Given the description of an element on the screen output the (x, y) to click on. 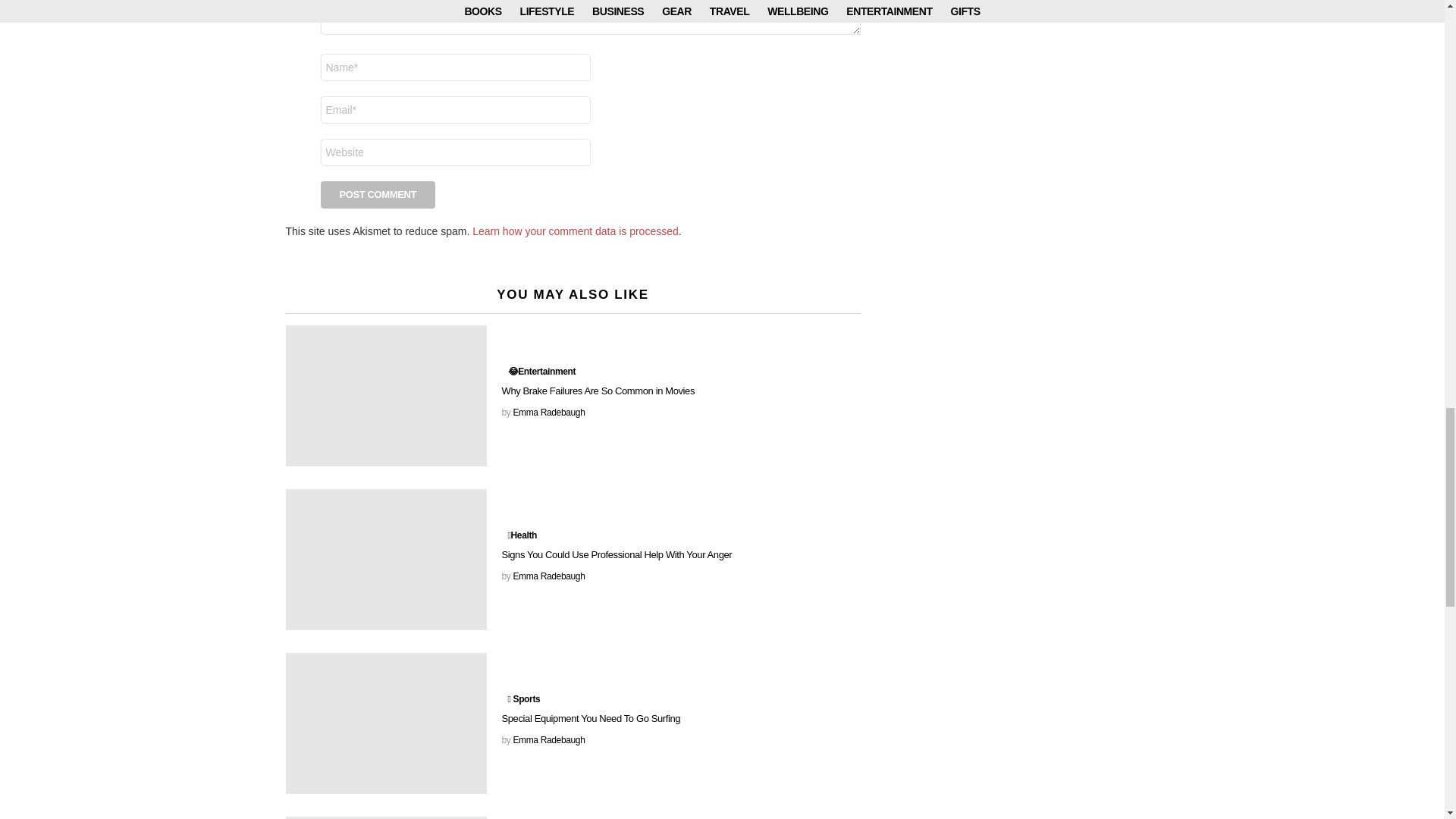
Why Brake Failures Are So Common in Movies (385, 395)
Post Comment (377, 194)
Special Equipment You Need To Go Surfing (385, 722)
Posts by Emma Radebaugh (548, 412)
Posts by Emma Radebaugh (548, 739)
4 Tips for Handling a K-1 Visa Interview (385, 817)
Signs You Could Use Professional Help With Your Anger (385, 558)
Posts by Emma Radebaugh (548, 575)
